Given the description of an element on the screen output the (x, y) to click on. 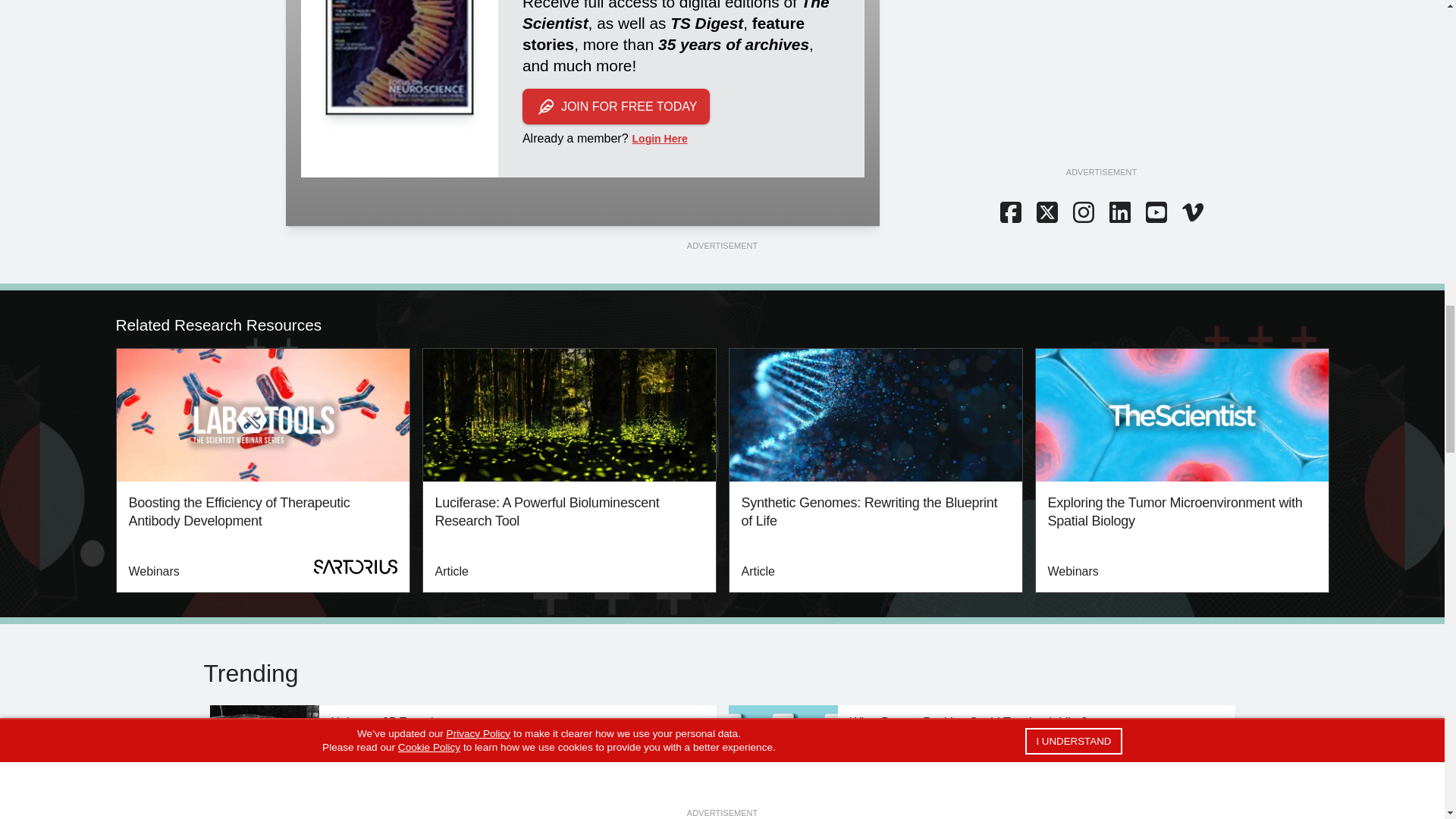
YouTube (1155, 213)
Instagram (1082, 213)
LinkedIn (1118, 213)
Magaizne Cover (399, 57)
Vimeo (1191, 213)
Facebook (1009, 213)
Twitter (1045, 213)
